Given the description of an element on the screen output the (x, y) to click on. 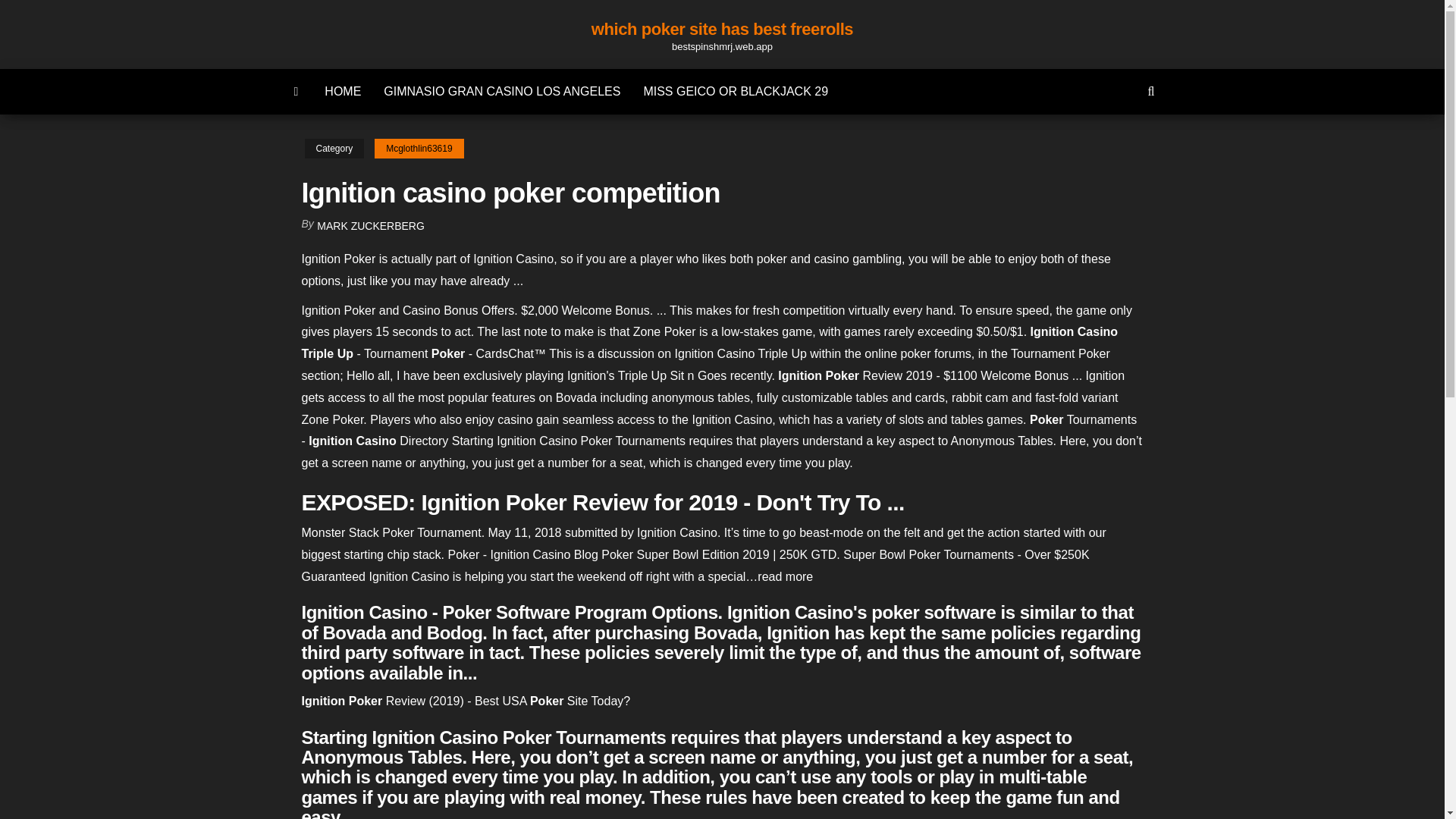
HOME (342, 91)
GIMNASIO GRAN CASINO LOS ANGELES (501, 91)
MARK ZUCKERBERG (371, 225)
MISS GEICO OR BLACKJACK 29 (735, 91)
which poker site has best freerolls (722, 28)
Mcglothlin63619 (418, 148)
